Given the description of an element on the screen output the (x, y) to click on. 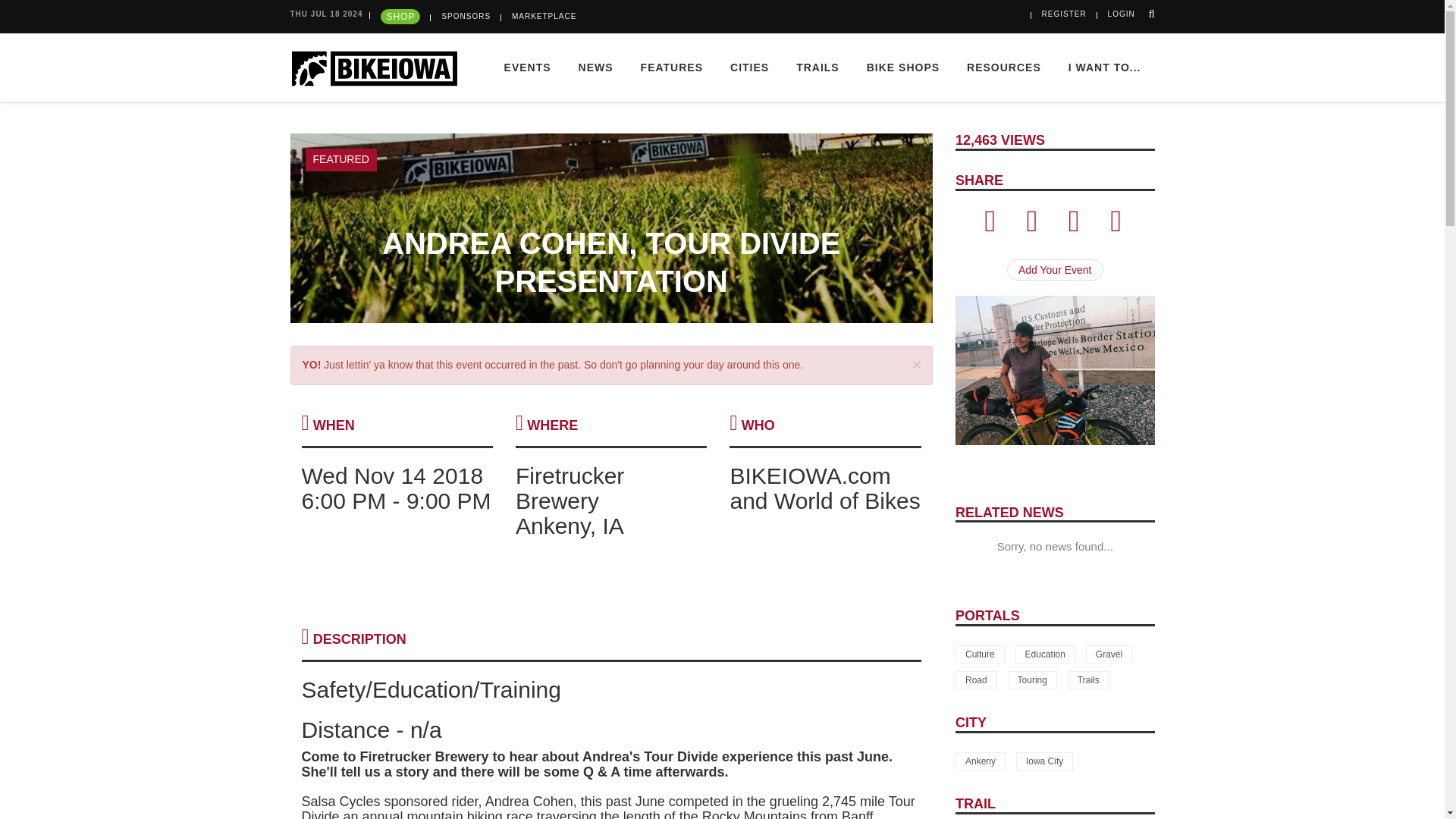
CITIES (749, 67)
SHOP (400, 16)
MARKETPLACE (544, 16)
LOGIN (1121, 13)
FEATURES (671, 67)
EVENTS (527, 67)
TRAILS (818, 67)
SPONSORS (465, 16)
Click to Share via Email (1073, 227)
REGISTER (1064, 13)
RESOURCES (1003, 67)
BIKE SHOPS (903, 67)
NEWS (595, 67)
Click to Share via Facebook (990, 227)
